Given the description of an element on the screen output the (x, y) to click on. 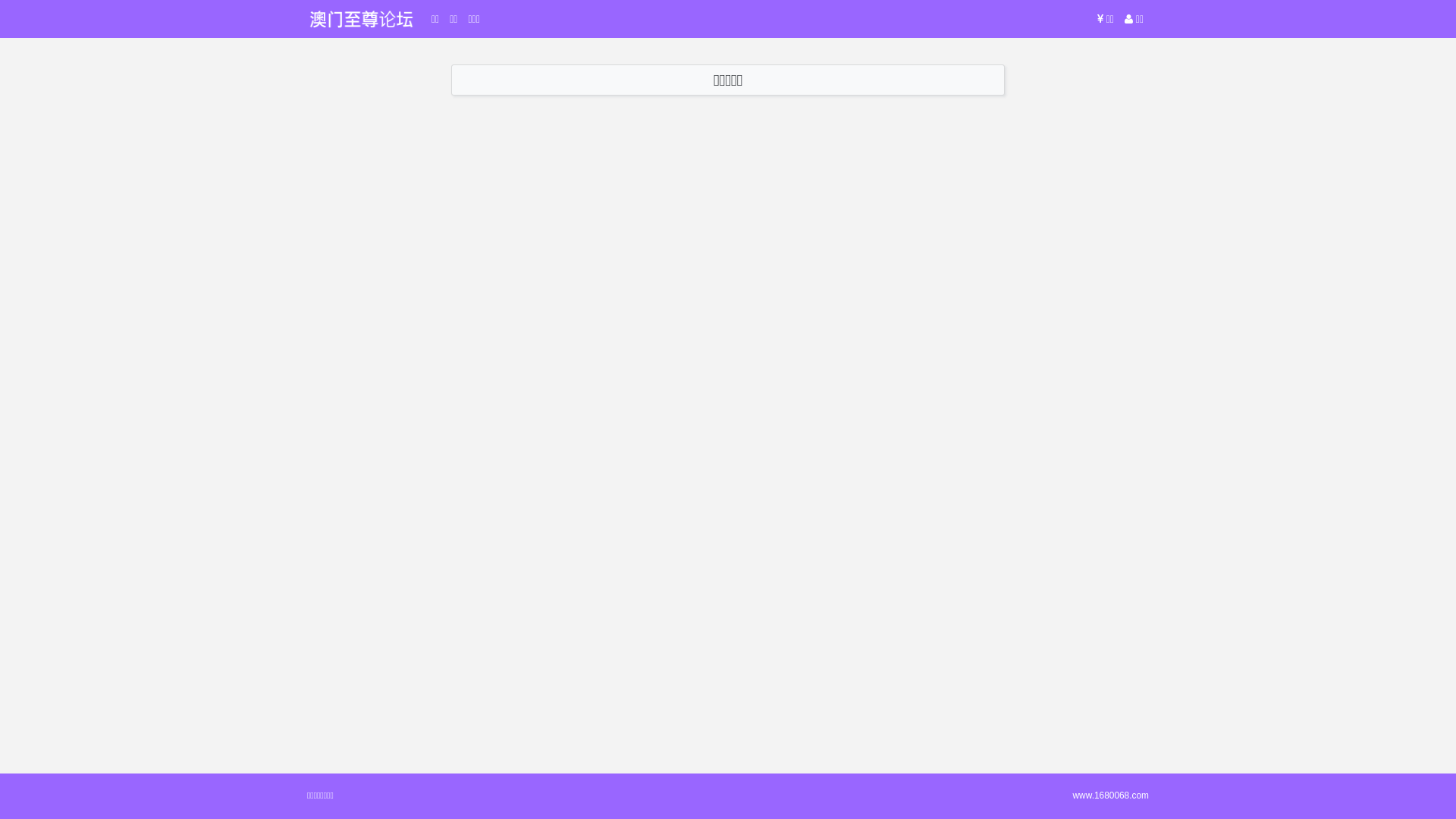
www.1680068.com Element type: text (1110, 795)
